Given the description of an element on the screen output the (x, y) to click on. 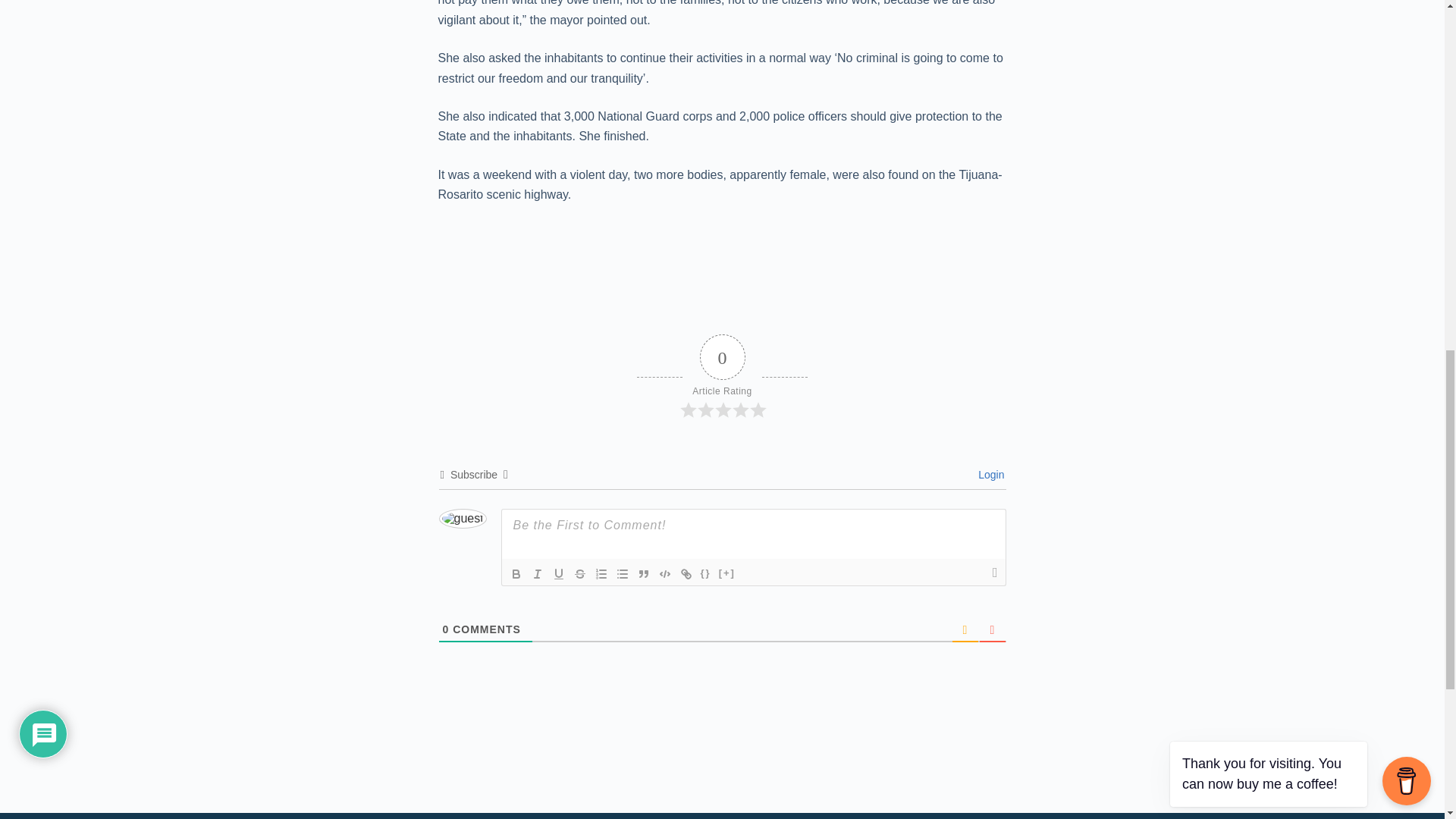
Ordered List (600, 574)
Strike (579, 574)
Unordered List (621, 574)
Underline (558, 574)
Login (989, 474)
Code Block (664, 574)
Link (685, 574)
Blockquote (642, 574)
Spoiler (726, 574)
Bold (515, 574)
Source Code (704, 574)
Italic (536, 574)
